Given the description of an element on the screen output the (x, y) to click on. 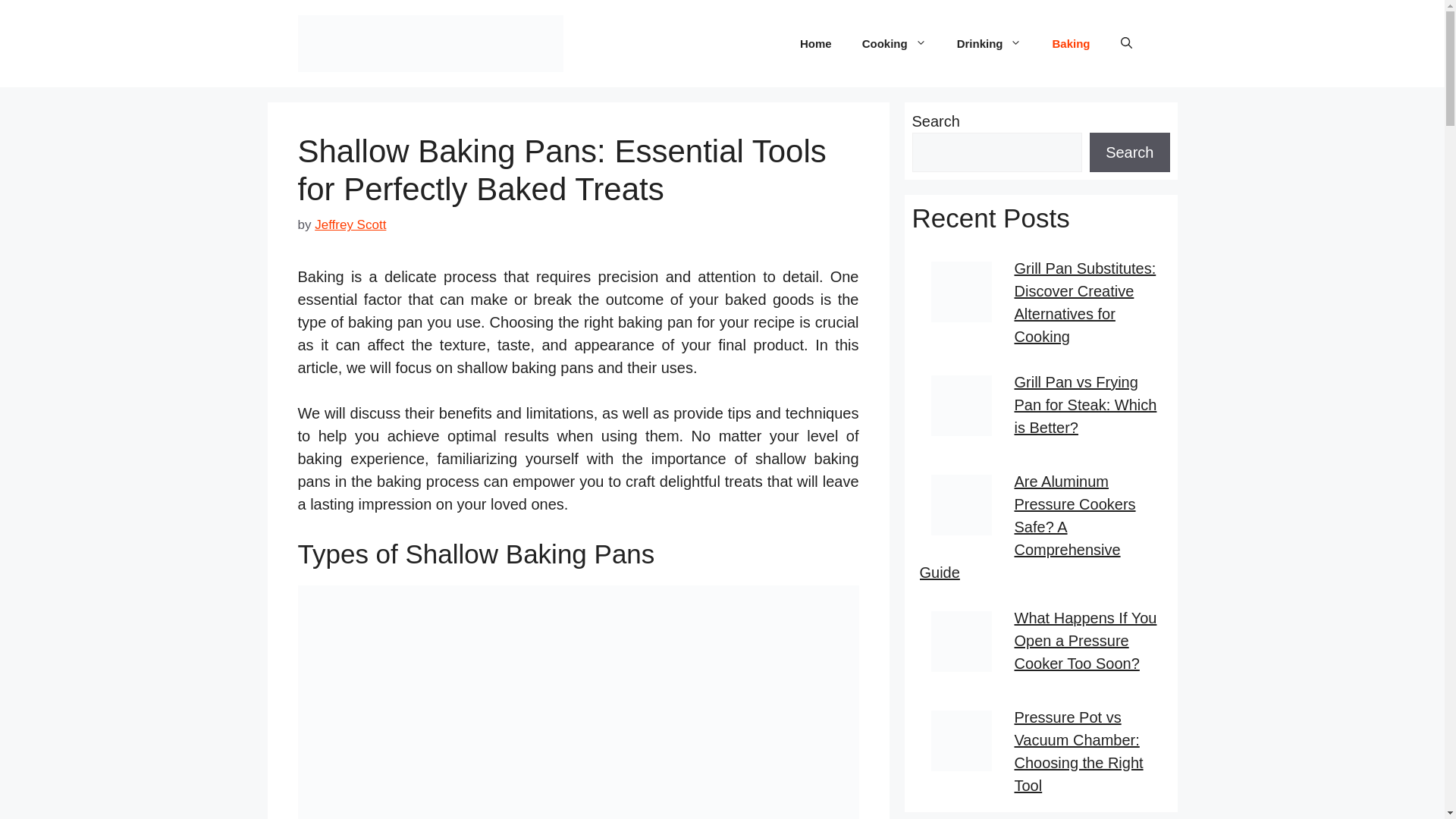
Search (1129, 151)
Grill Pan vs Frying Pan for Steak: Which is Better? (1085, 404)
Baking (1070, 43)
Home (815, 43)
Cooking (894, 43)
Jeffrey Scott (349, 224)
Drinking (989, 43)
Are Aluminum Pressure Cookers Safe? A Comprehensive Guide (1026, 526)
View all posts by Jeffrey Scott (349, 224)
Pressure Pot vs Vacuum Chamber: Choosing the Right Tool (1078, 751)
What Happens If You Open a Pressure Cooker Too Soon? (1085, 640)
